Given the description of an element on the screen output the (x, y) to click on. 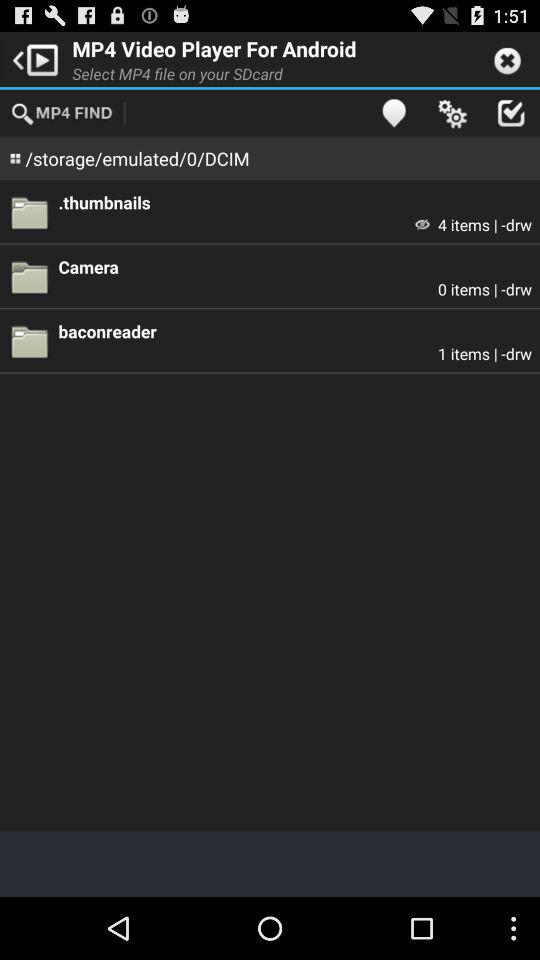
open .thumbnails app (295, 201)
